Given the description of an element on the screen output the (x, y) to click on. 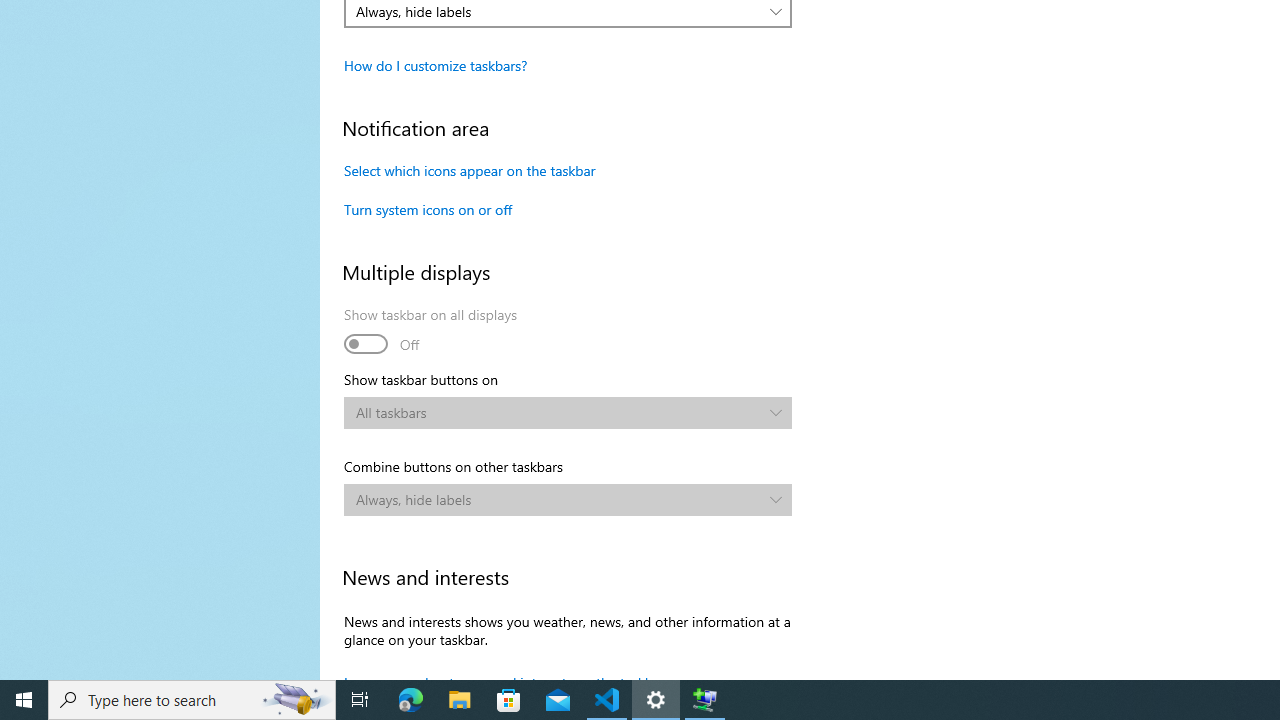
Always, hide labels (557, 499)
Learn more about news and interests on the taskbar (504, 676)
Show taskbar on all displays (431, 332)
Settings - 1 running window (656, 699)
Show taskbar buttons on (568, 412)
How do I customize taskbars? (435, 65)
Select which icons appear on the taskbar (470, 170)
Combine buttons on other taskbars (568, 499)
